Given the description of an element on the screen output the (x, y) to click on. 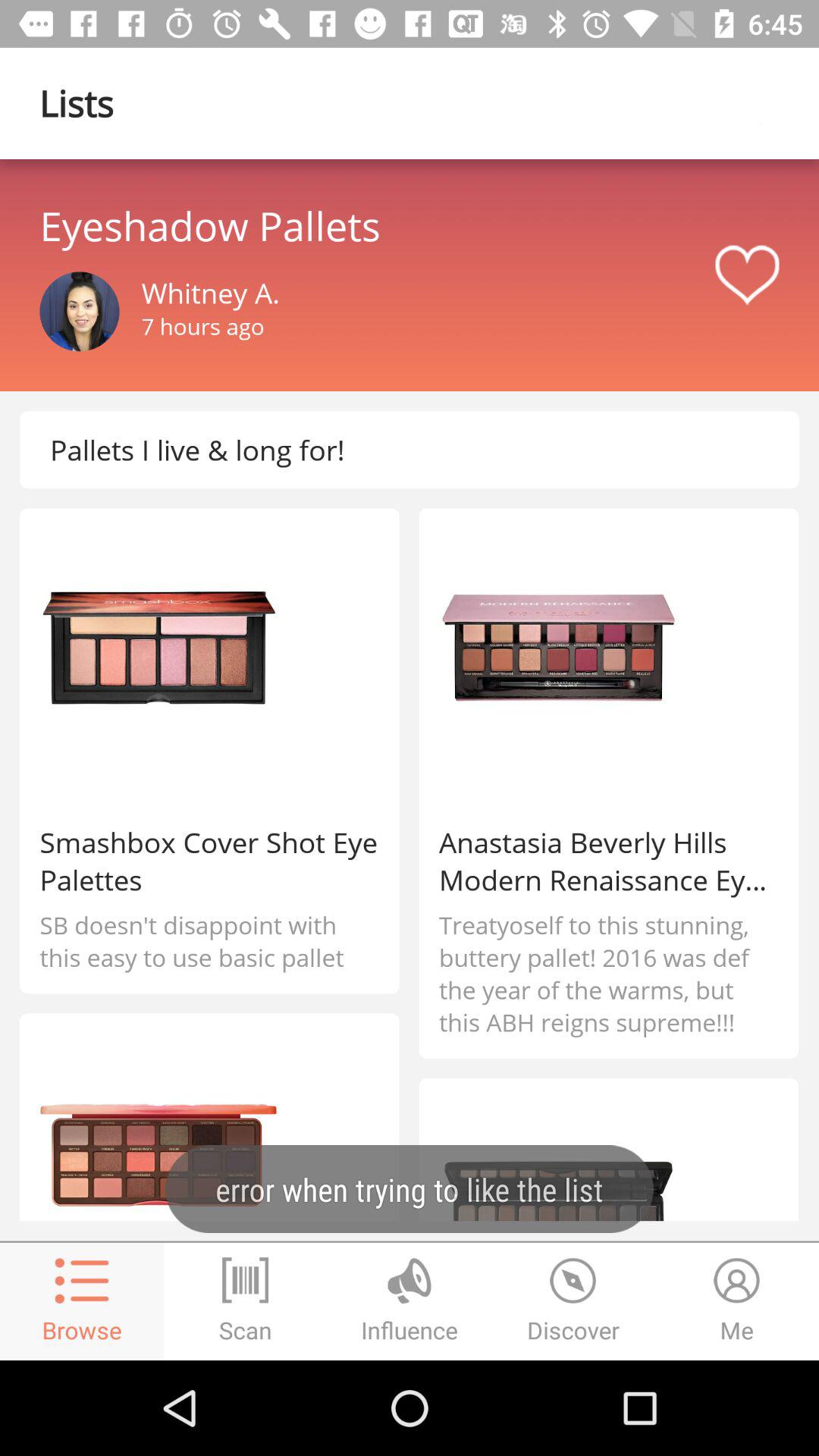
image setting the mail (79, 311)
